Given the description of an element on the screen output the (x, y) to click on. 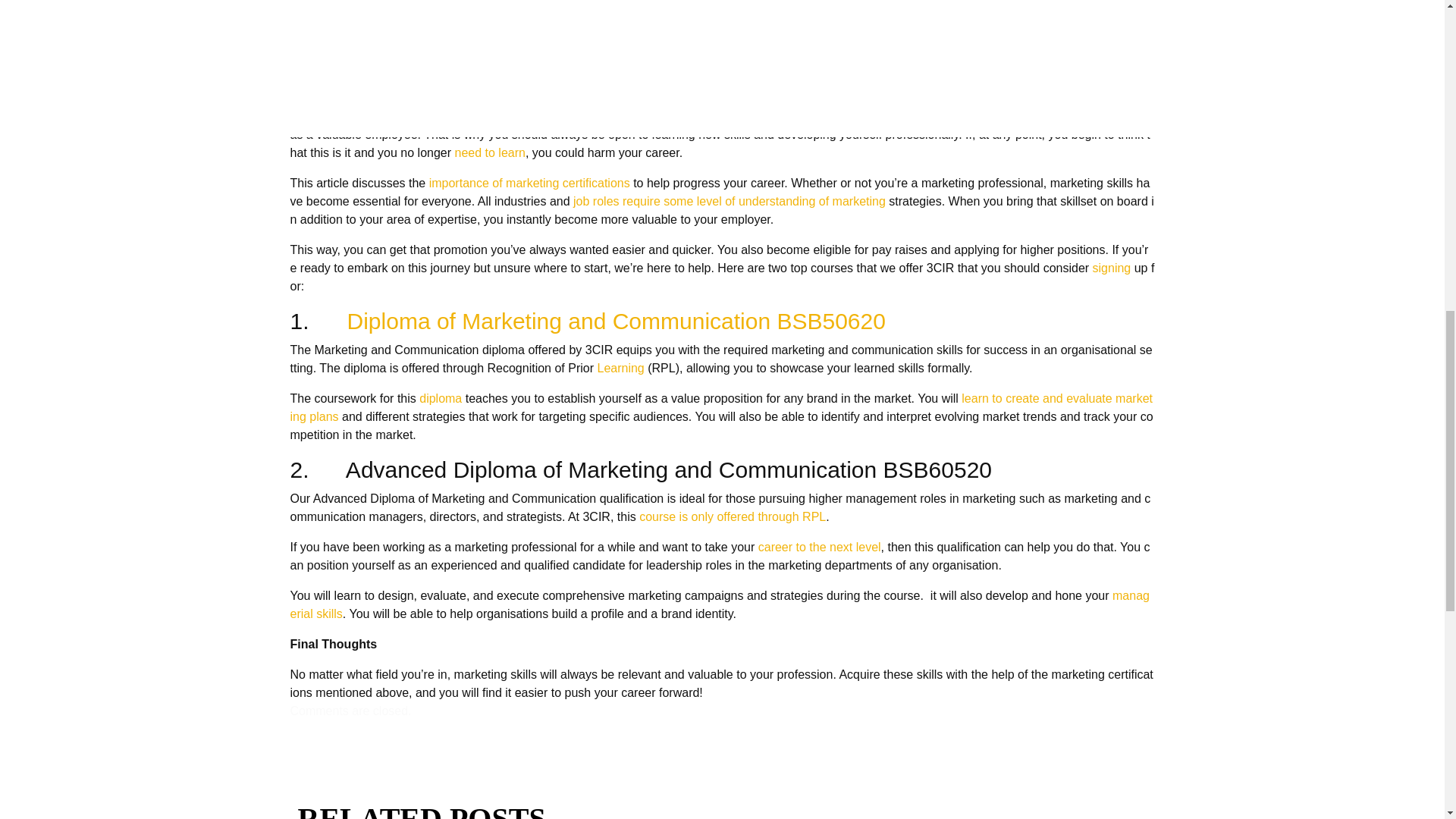
Diploma of Marketing and Communication BSB50620 (616, 320)
diploma (440, 398)
course is only offered through RPL (732, 516)
learn to create and evaluate marketing plans (721, 407)
signing (1112, 267)
job roles require some level of understanding of marketing (729, 201)
importance of marketing certifications (529, 182)
stay on top (903, 115)
need to learn (489, 152)
Learning (619, 367)
career to the next level (819, 546)
Administration (333, 37)
managerial skills (718, 603)
